Given the description of an element on the screen output the (x, y) to click on. 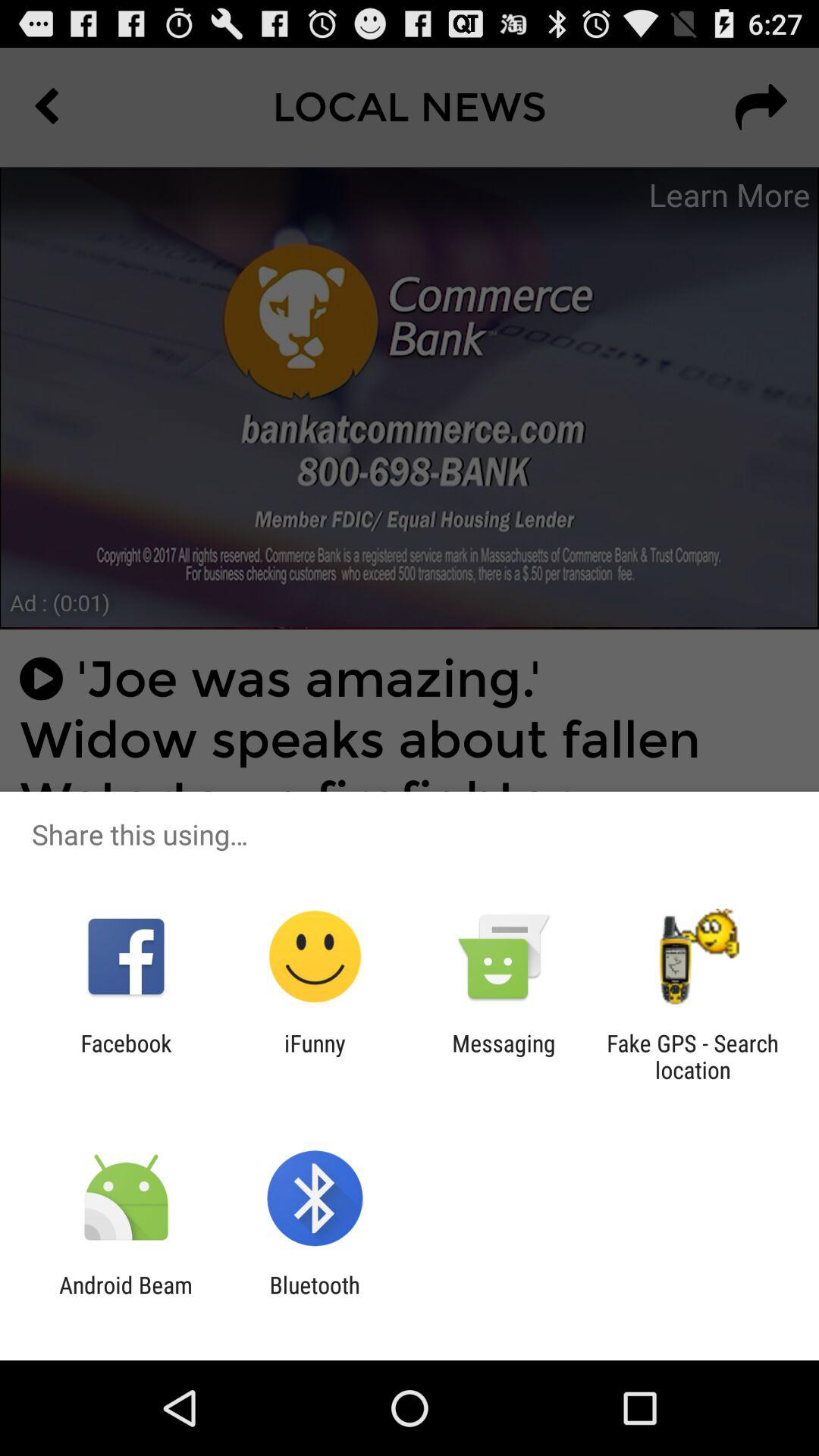
open ifunny item (314, 1056)
